Given the description of an element on the screen output the (x, y) to click on. 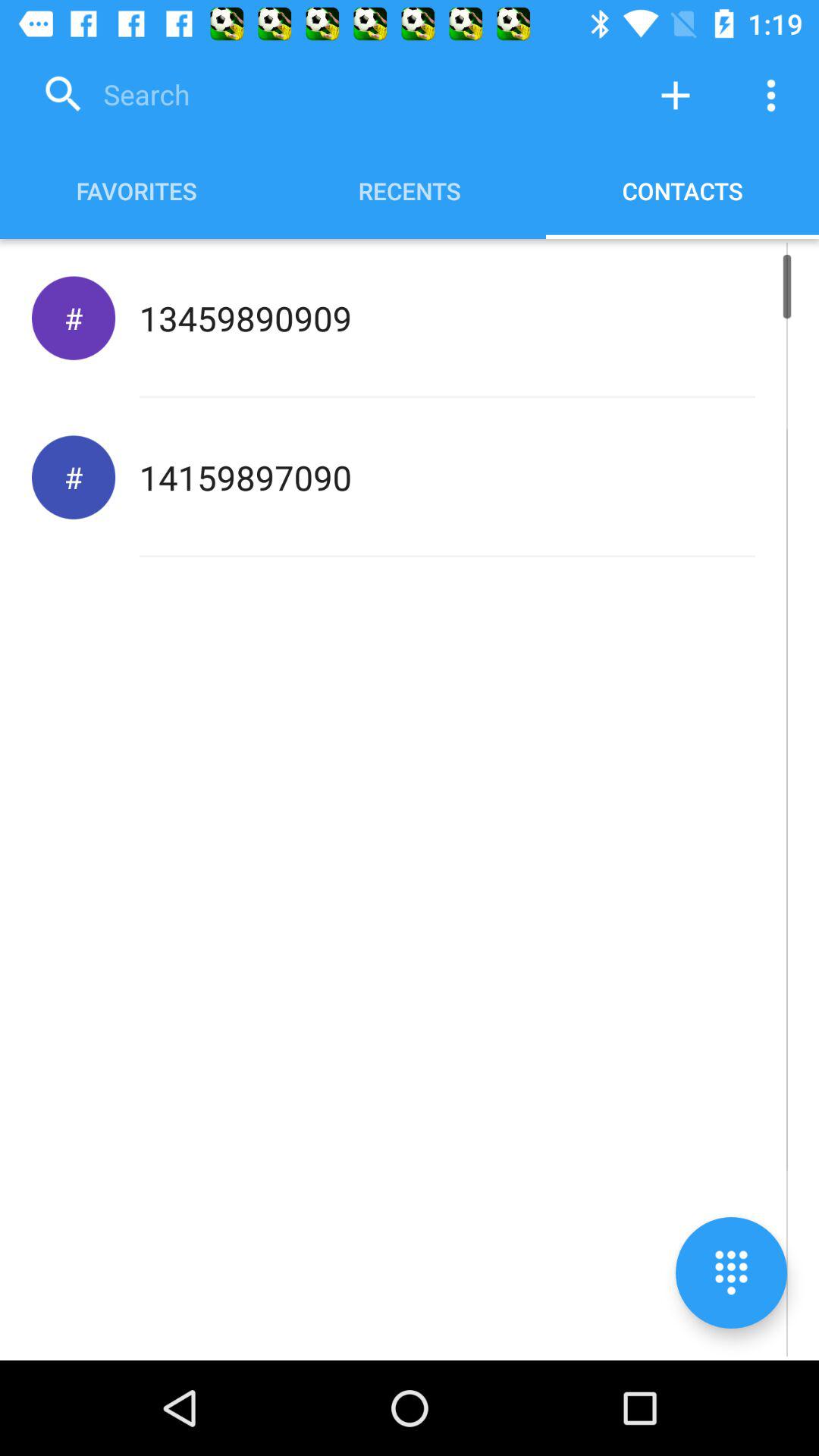
search bar (329, 95)
